Given the description of an element on the screen output the (x, y) to click on. 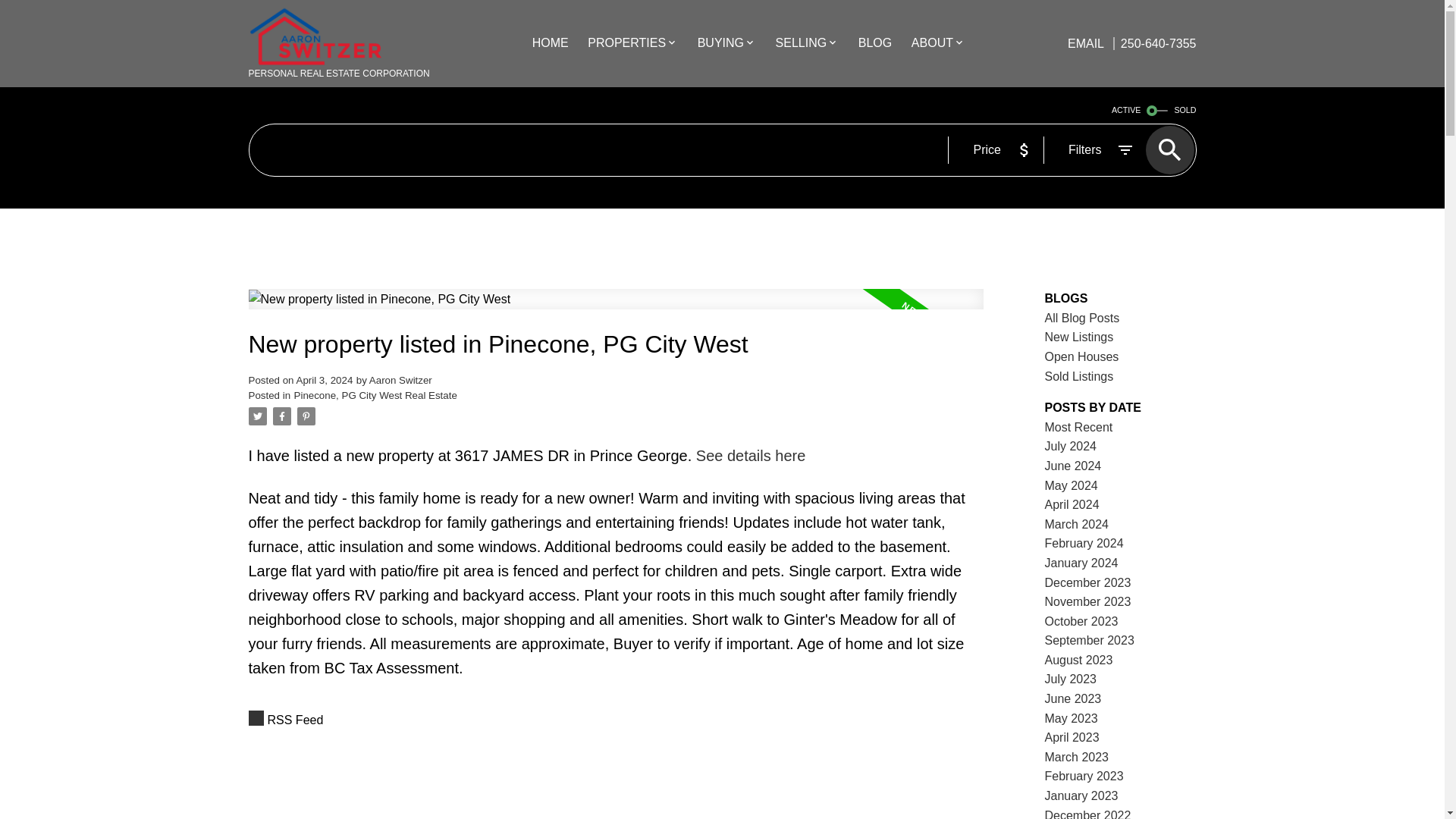
RSS (616, 720)
HOME (550, 43)
February 2024 (1084, 543)
October 2023 (1081, 621)
July 2024 (1071, 445)
November 2023 (1088, 601)
January 2024 (1081, 562)
September 2023 (1089, 640)
July 2023 (1071, 678)
See details here (750, 455)
EMAIL (1086, 42)
New Listings (1079, 336)
Most Recent (1079, 427)
250-640-7355 (1154, 42)
June 2024 (1073, 465)
